Given the description of an element on the screen output the (x, y) to click on. 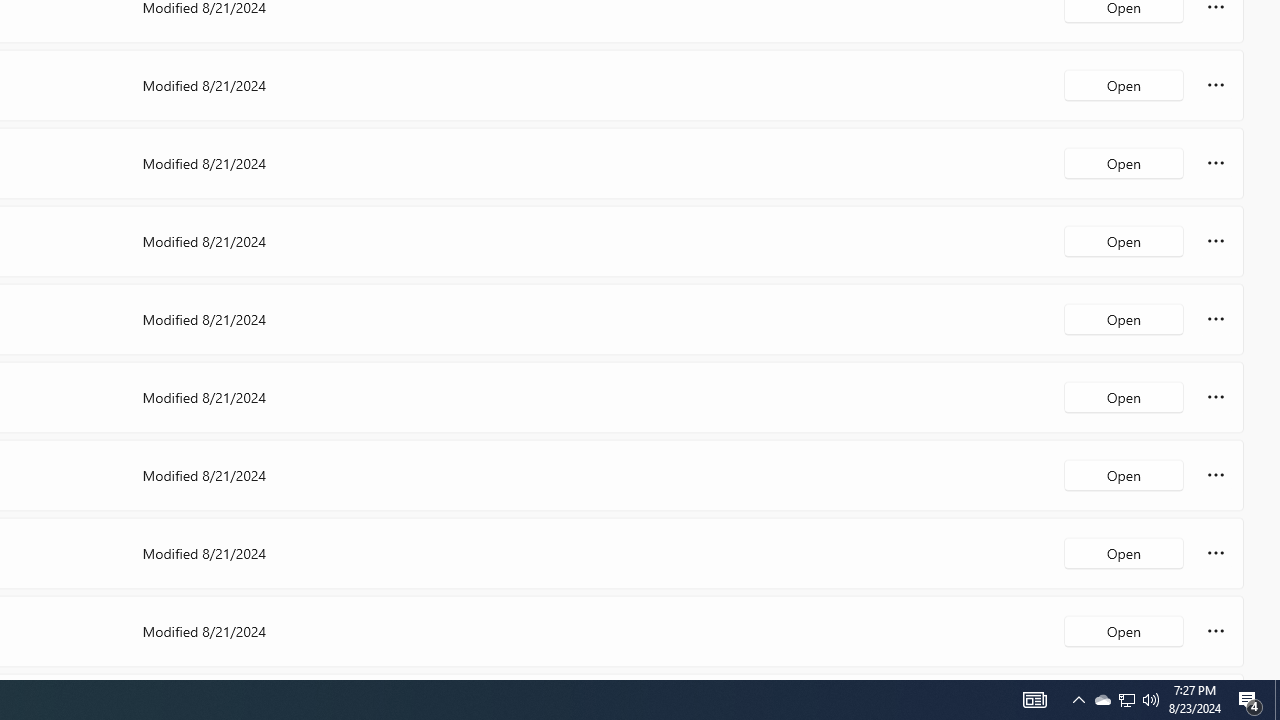
Open (1123, 630)
More options (1215, 630)
